Given the description of an element on the screen output the (x, y) to click on. 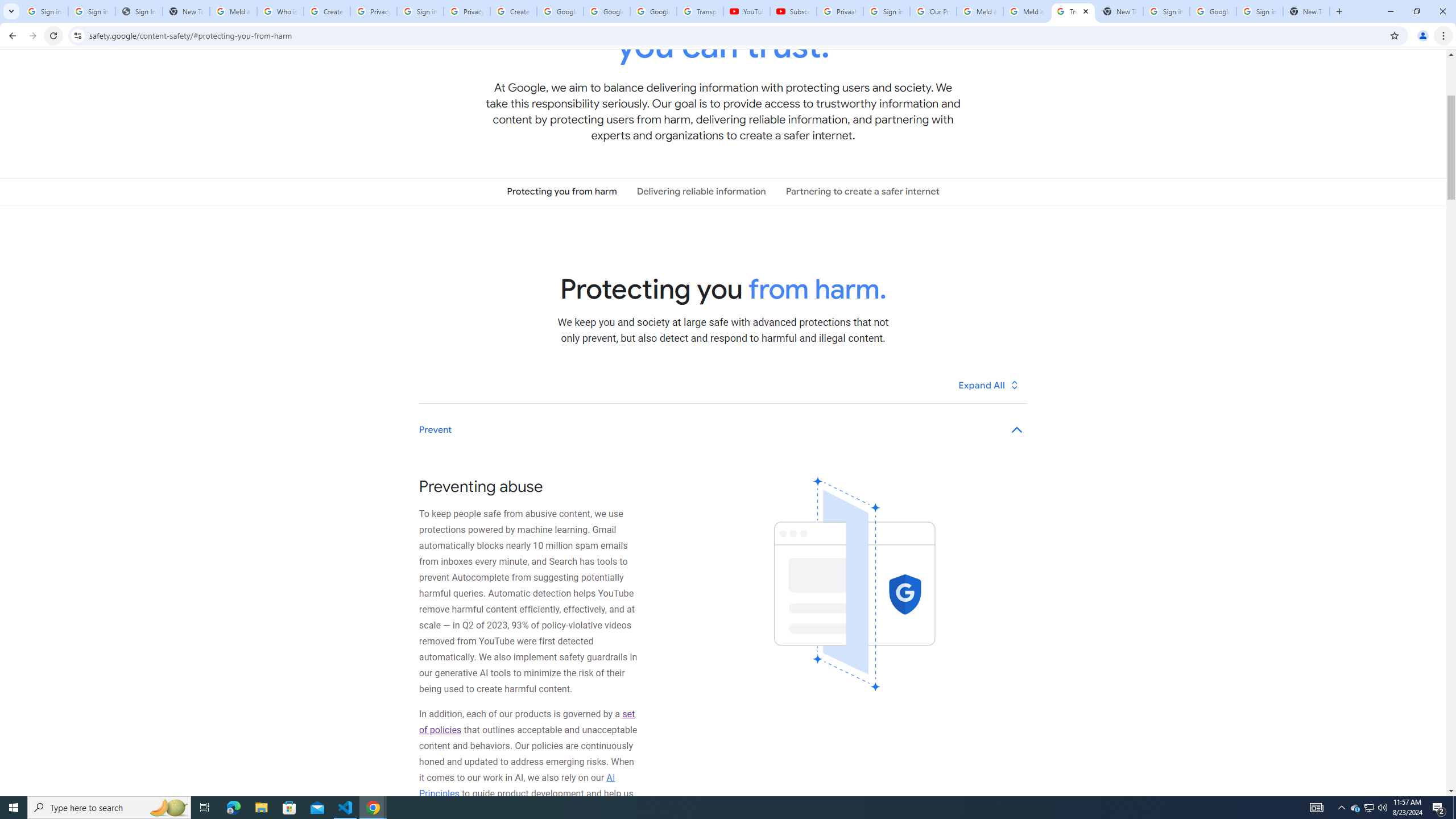
Protecting you from harm (561, 191)
Sign in - Google Accounts (91, 11)
